Given the description of an element on the screen output the (x, y) to click on. 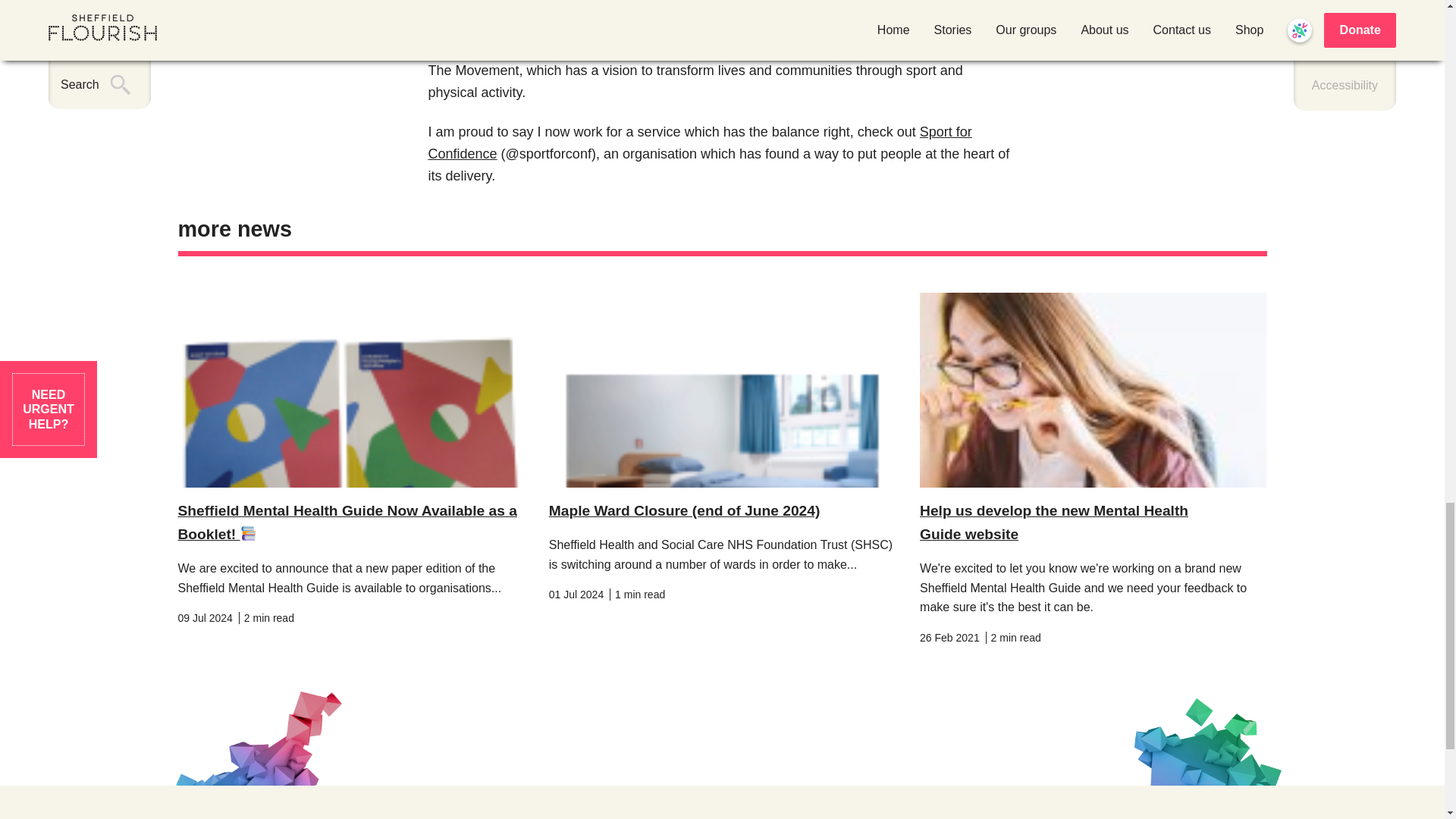
health (776, 26)
Sport for Confidence (699, 142)
Help us develop the new Mental Health Guide website (1054, 522)
Sheffield Mental Health Guide Now Available as a Booklet! (346, 522)
